Given the description of an element on the screen output the (x, y) to click on. 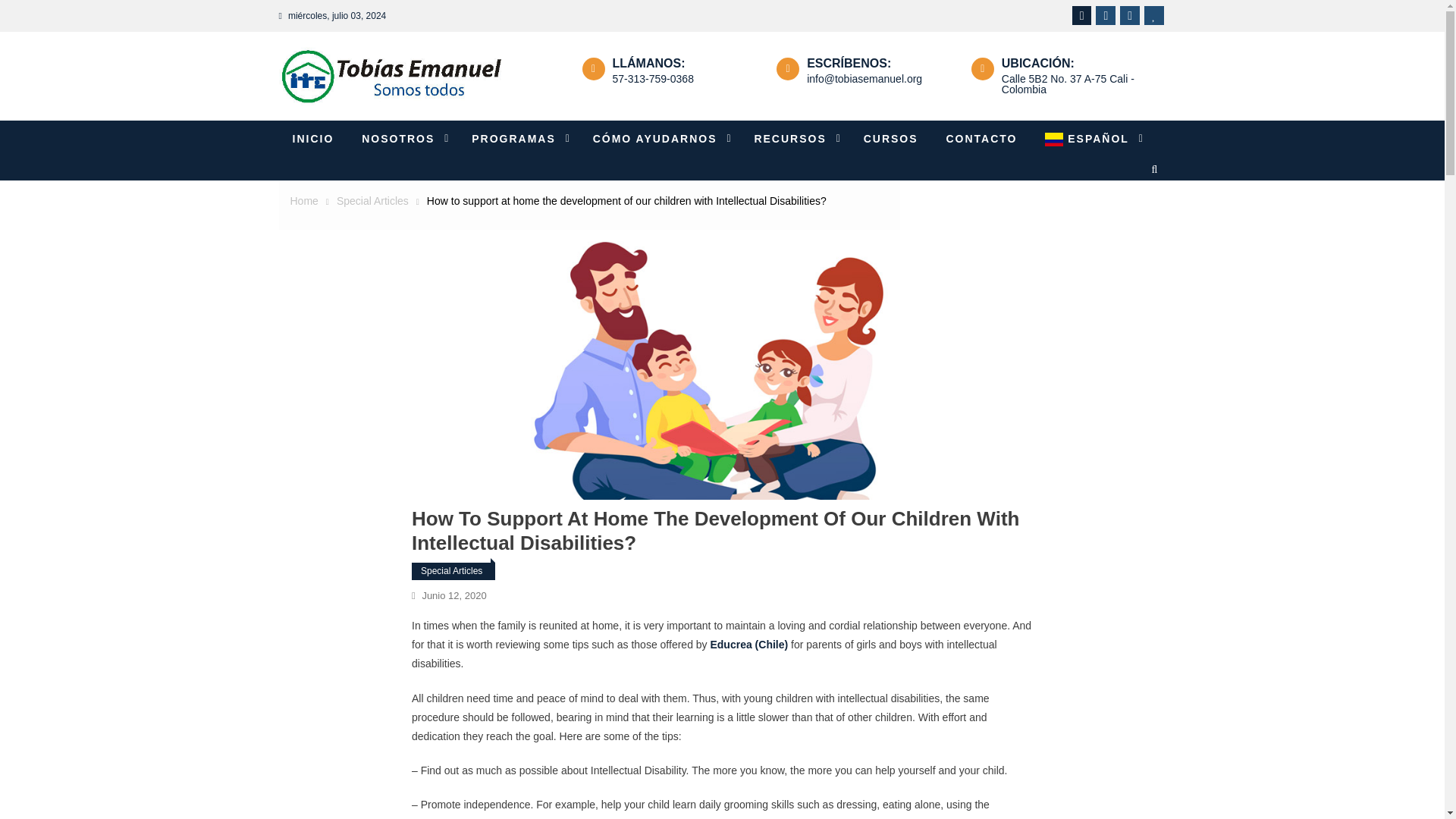
Calle 5B2 No. 37 A-75 Cali - Colombia (1067, 83)
57-313-759-0368 (653, 78)
CONTACTO (980, 139)
INICIO (313, 139)
Buscar (1139, 227)
RECURSOS (793, 139)
Home (303, 200)
CURSOS (890, 139)
PROGRAMAS (518, 139)
Special Articles (372, 200)
Special Articles (452, 571)
NOSOTROS (402, 139)
